Given the description of an element on the screen output the (x, y) to click on. 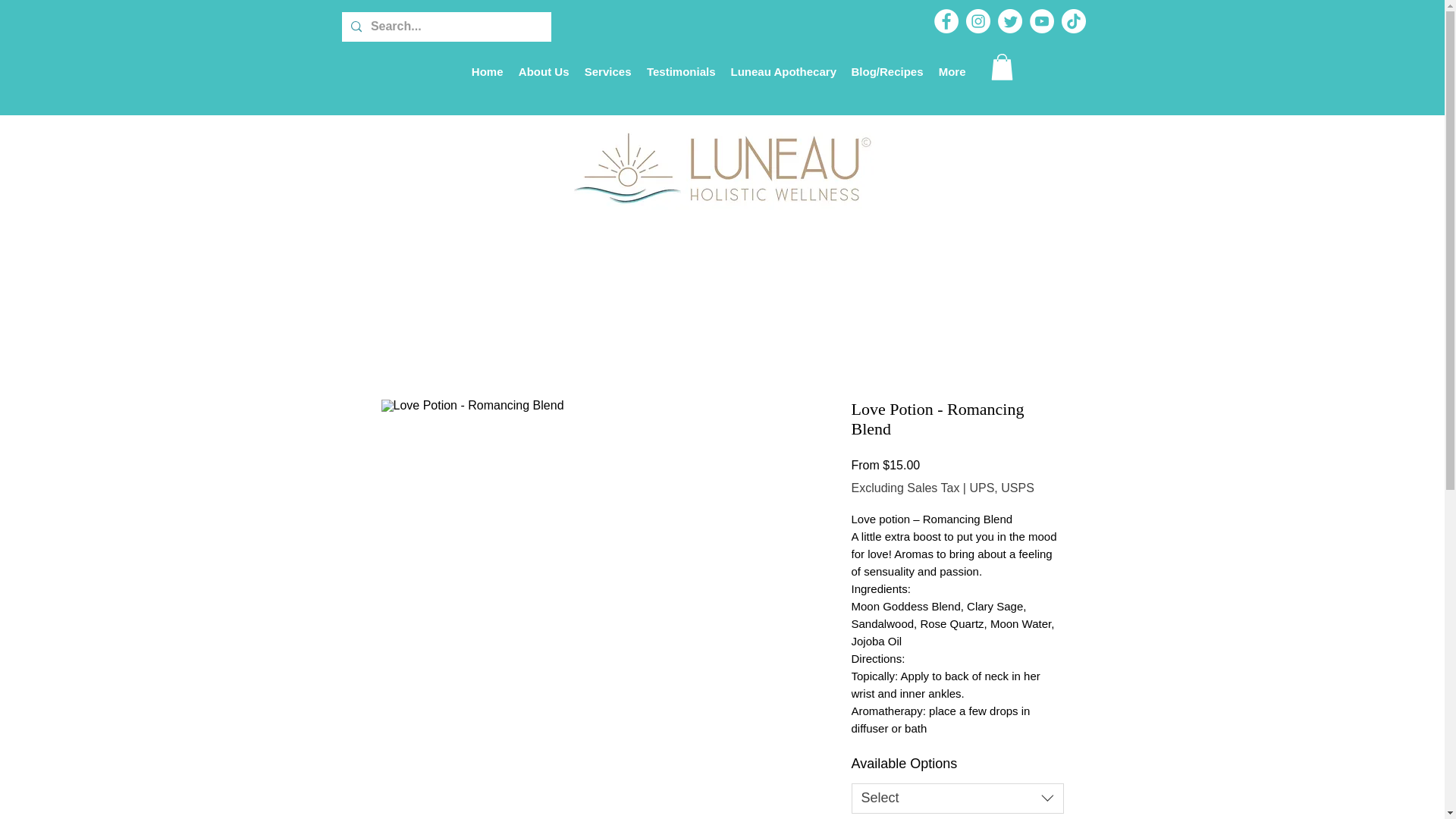
Home (487, 71)
Luneau Apothecary (783, 71)
Services (607, 71)
Testimonials (680, 71)
About Us (543, 71)
